Given the description of an element on the screen output the (x, y) to click on. 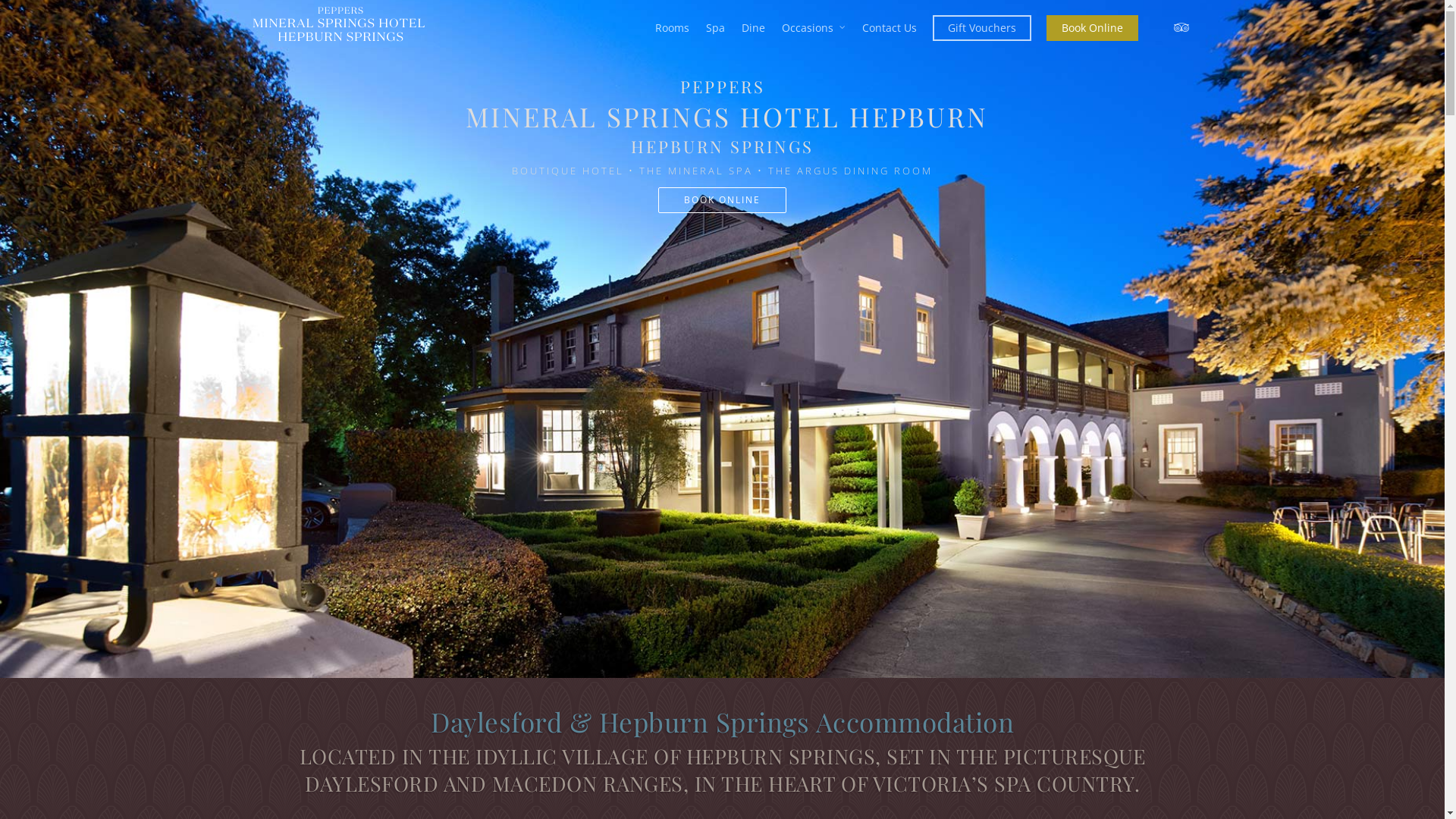
Contact Us Element type: text (889, 30)
Book Online Element type: text (1092, 30)
Occasions Element type: text (813, 30)
Dine Element type: text (753, 30)
BOOK ONLINE Element type: text (722, 200)
Rooms Element type: text (671, 30)
Spa Element type: text (715, 30)
Gift Vouchers Element type: text (981, 30)
